Given the description of an element on the screen output the (x, y) to click on. 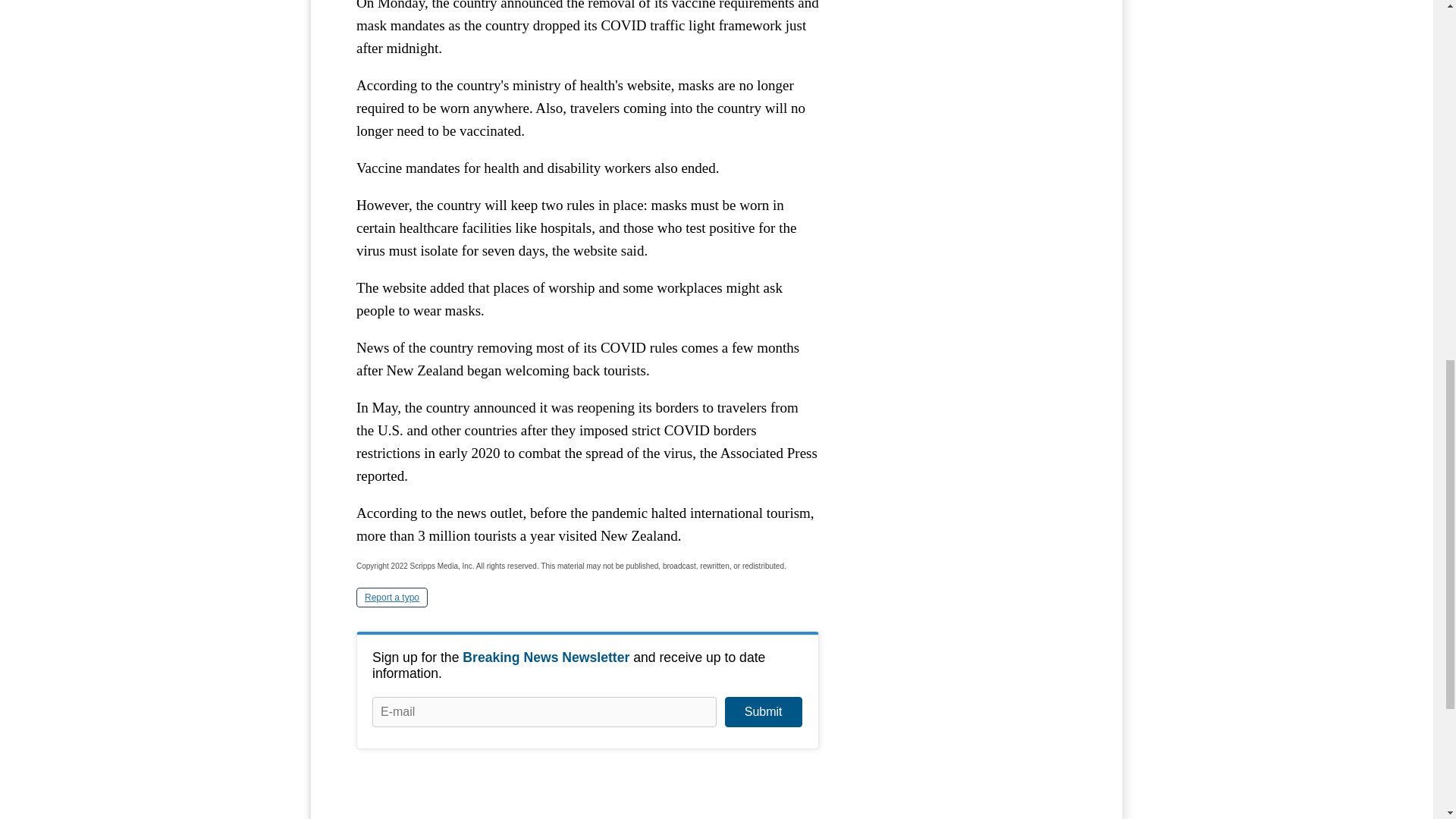
Submit (763, 711)
